Given the description of an element on the screen output the (x, y) to click on. 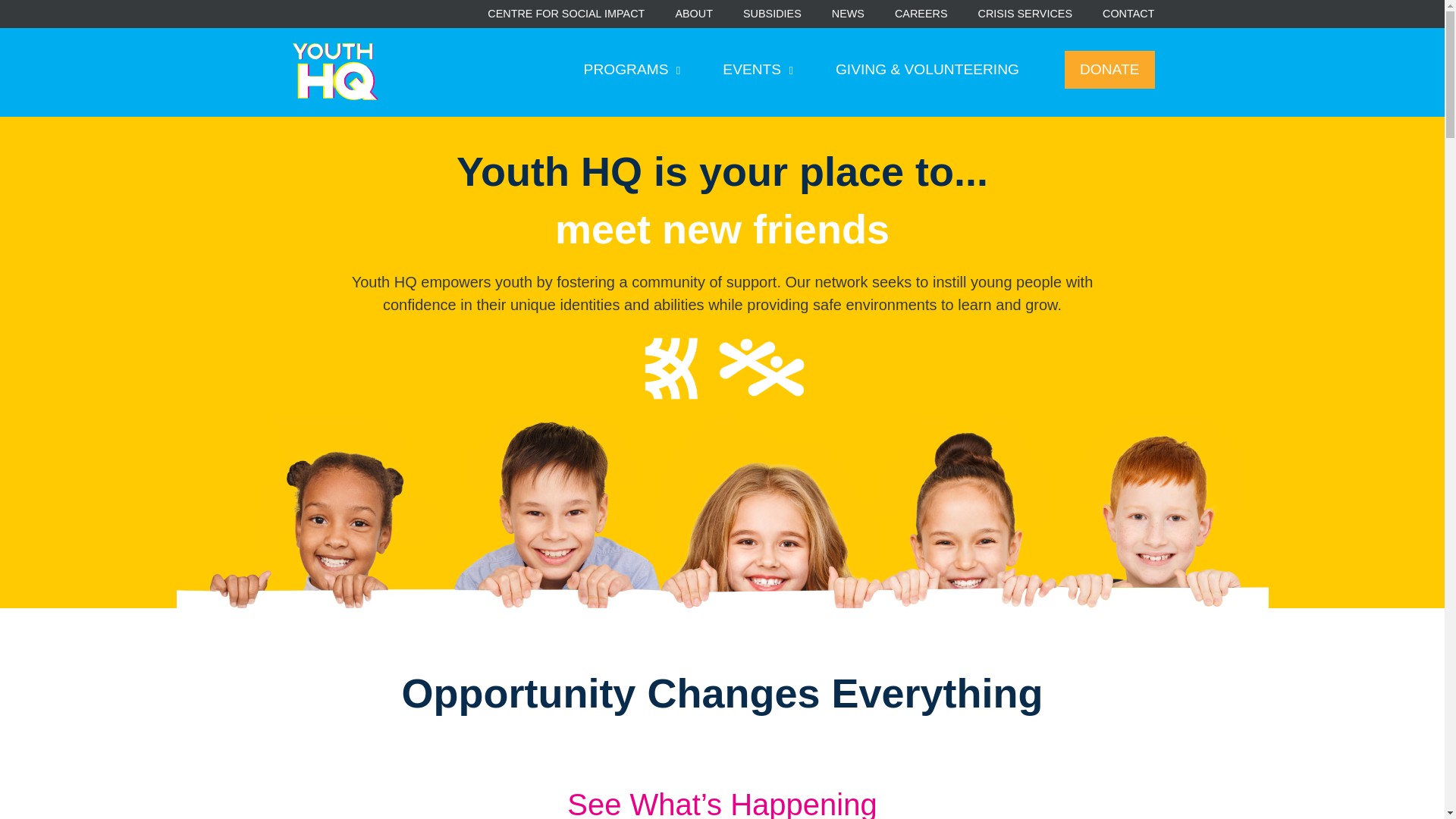
ABOUT (694, 13)
SUBSIDIES (772, 13)
EVENTS (757, 69)
DONATE (1109, 69)
CENTRE FOR SOCIAL IMPACT (566, 13)
CONTACT (1128, 13)
NEWS (847, 13)
CRISIS SERVICES (1025, 13)
CAREERS (921, 13)
PROGRAMS (632, 69)
